Given the description of an element on the screen output the (x, y) to click on. 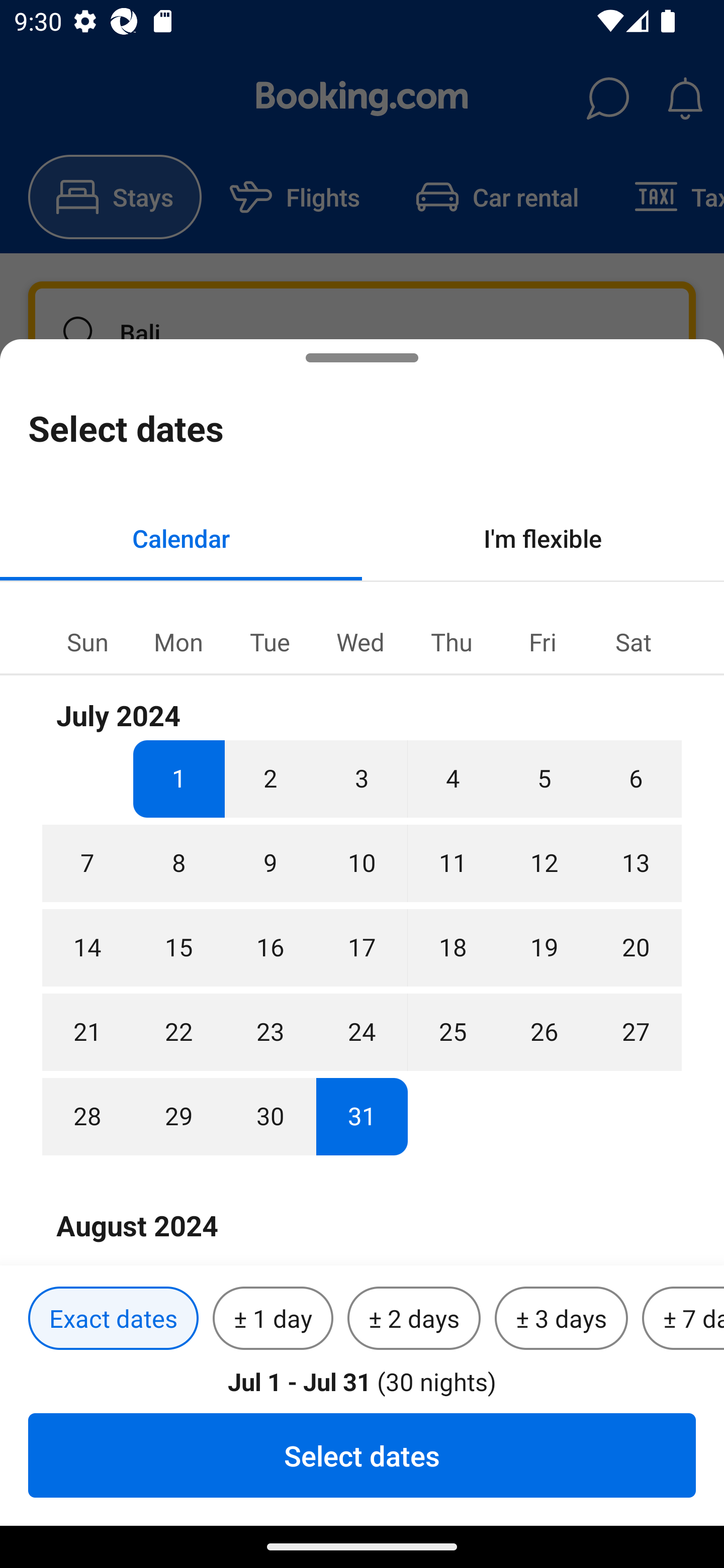
I'm flexible (543, 537)
Exact dates (113, 1318)
± 1 day (272, 1318)
± 2 days (413, 1318)
± 3 days (560, 1318)
± 7 days (683, 1318)
Select dates (361, 1454)
